Given the description of an element on the screen output the (x, y) to click on. 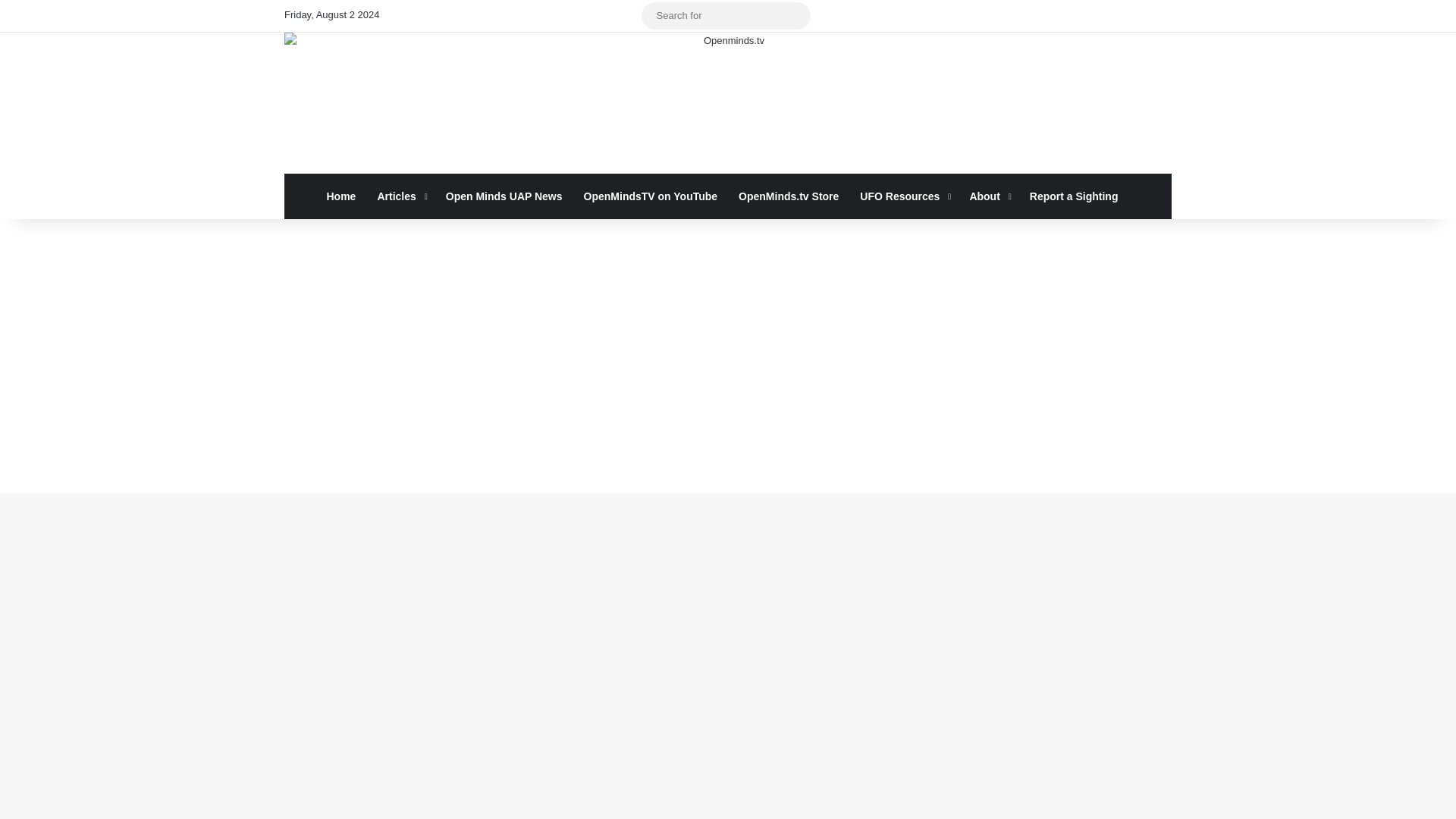
Open Minds UAP News (504, 196)
Openminds.tv (727, 102)
OpenMindsTV on YouTube (651, 196)
Search for (726, 15)
UFO Resources (903, 196)
Home (340, 196)
Search for (795, 15)
Articles (399, 196)
OpenMinds.tv Store (788, 196)
About (987, 196)
